Given the description of an element on the screen output the (x, y) to click on. 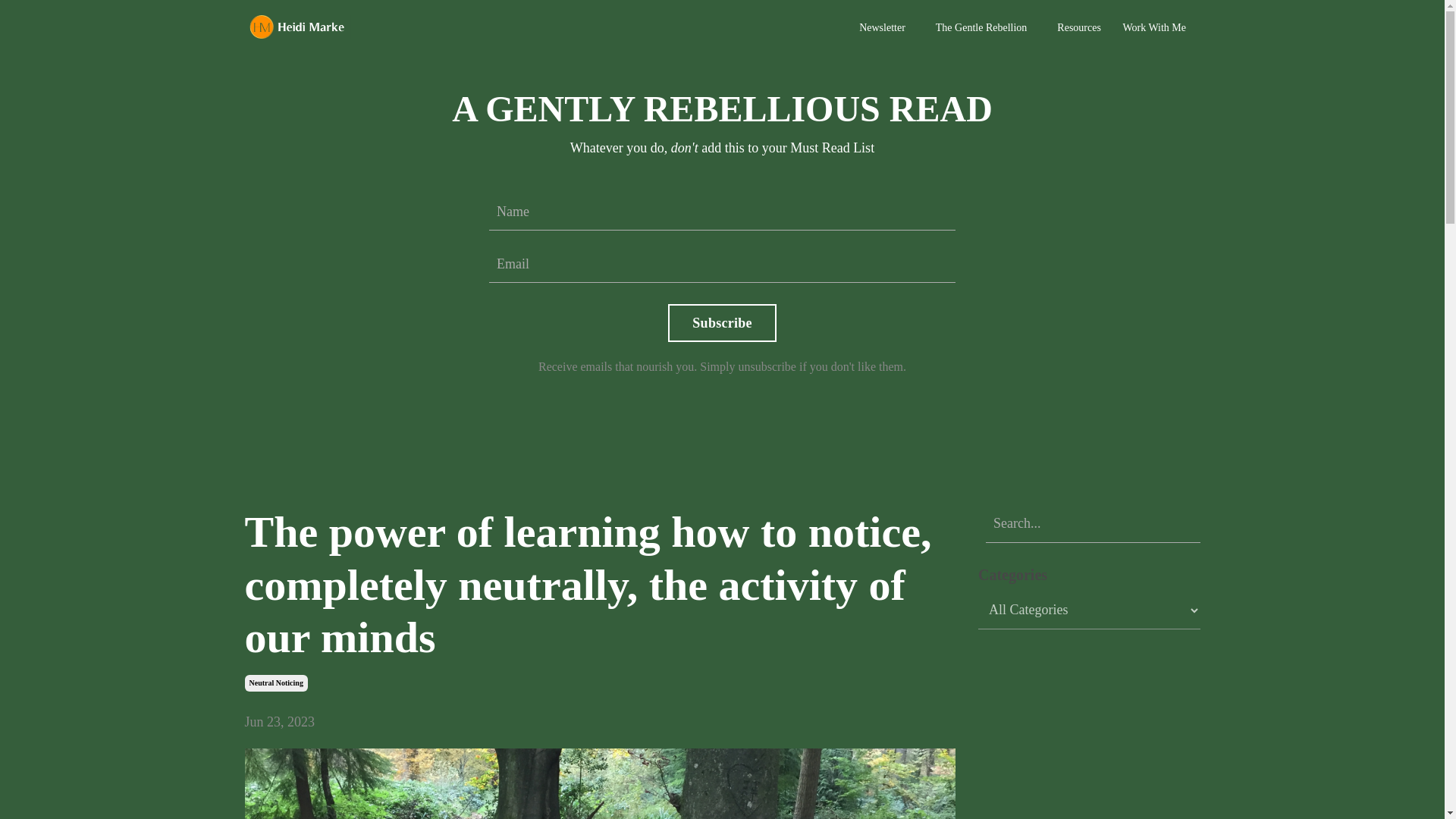
Newsletter (882, 27)
Neutral Noticing (275, 682)
Work With Me (1157, 27)
Resources (1081, 27)
Subscribe (722, 322)
The Gentle Rebellion (981, 27)
